Given the description of an element on the screen output the (x, y) to click on. 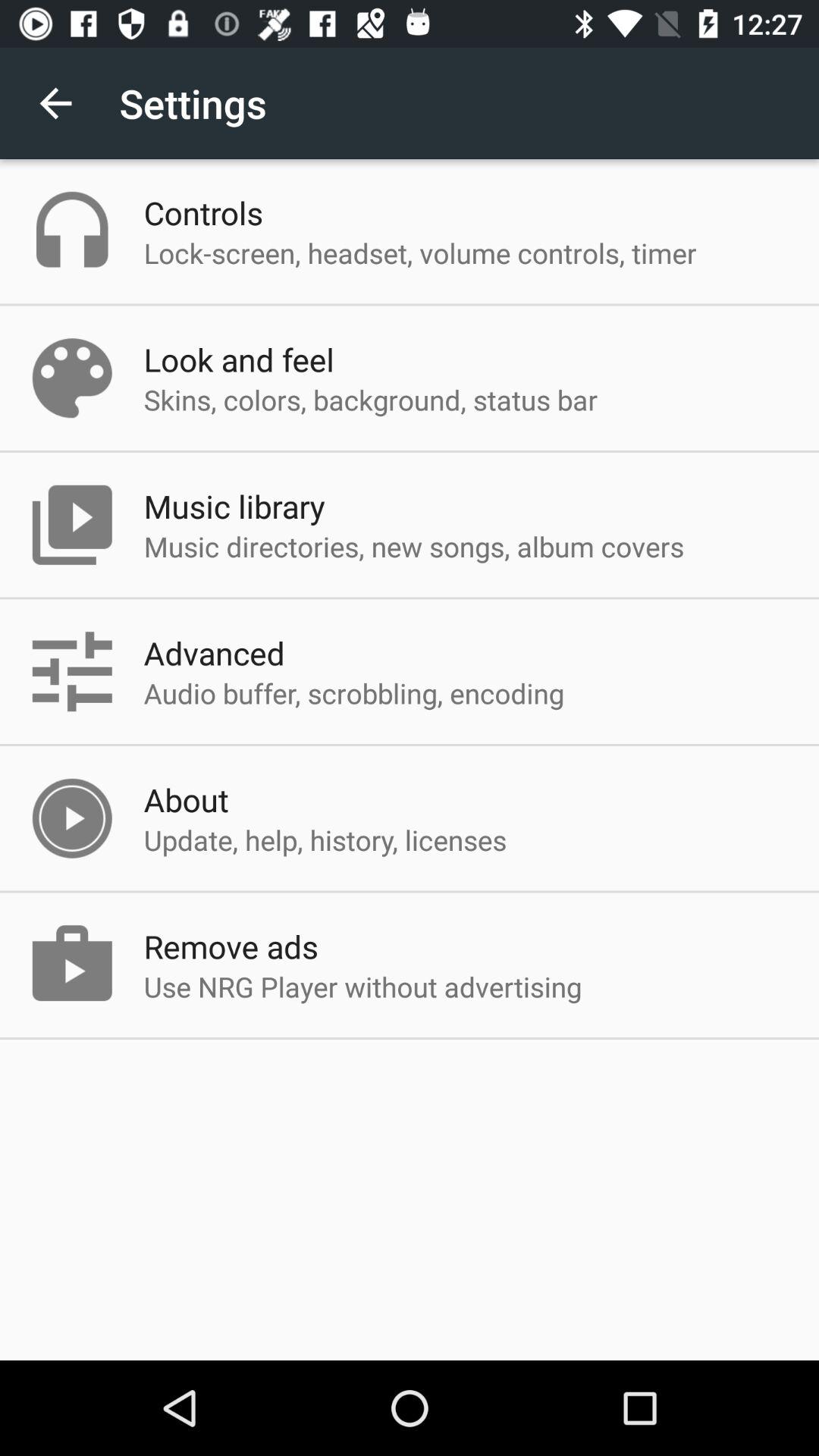
flip to update help history item (324, 839)
